Given the description of an element on the screen output the (x, y) to click on. 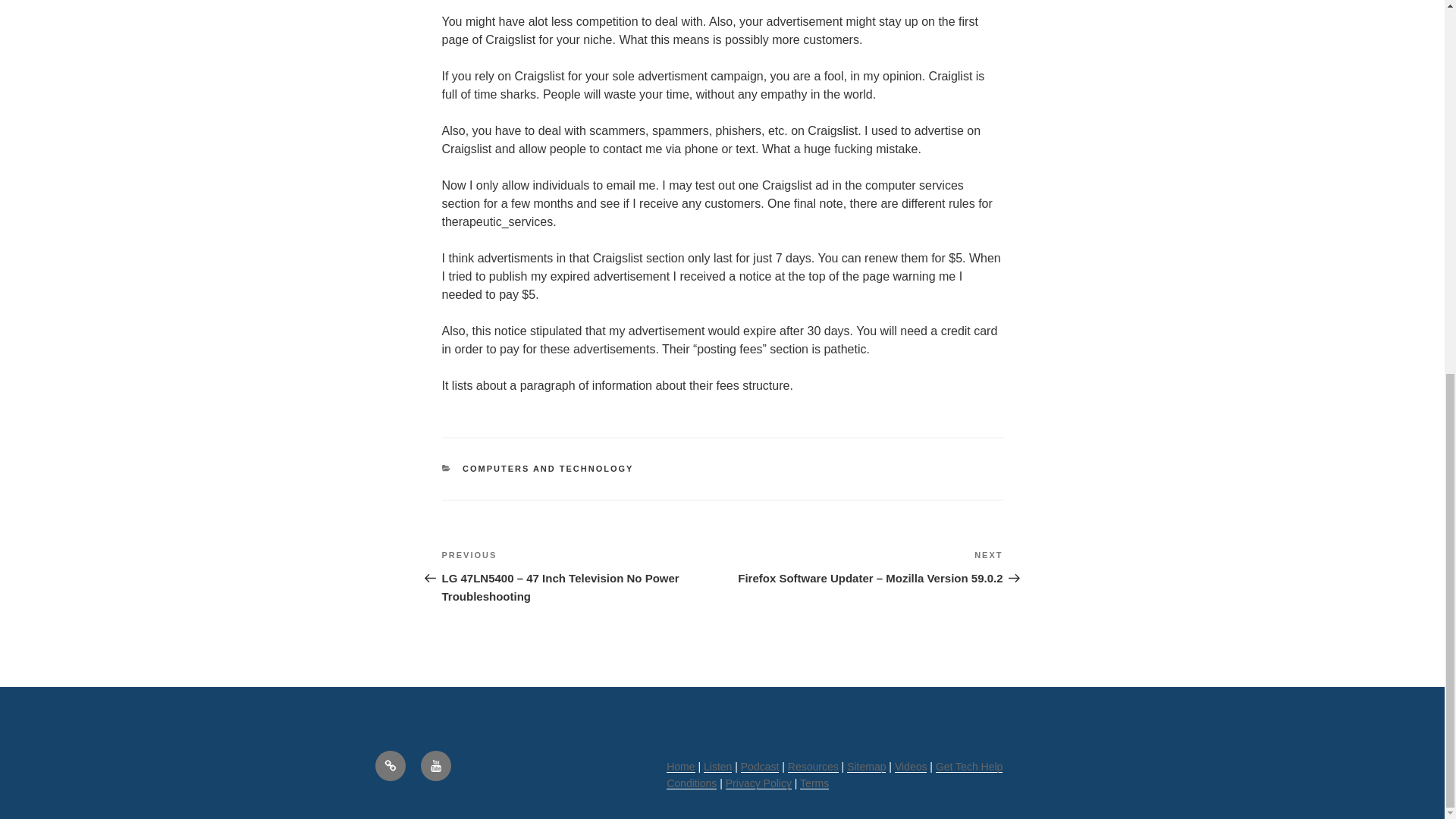
Subscribe to Youtube Channel (435, 766)
Resources (812, 766)
Subscribe to Blog Feed (389, 766)
Listen (717, 766)
Get Tech Help (969, 766)
Videos (911, 766)
Sitemap (866, 766)
Home (680, 766)
Privacy Policy (758, 783)
Podcast (759, 766)
